Given the description of an element on the screen output the (x, y) to click on. 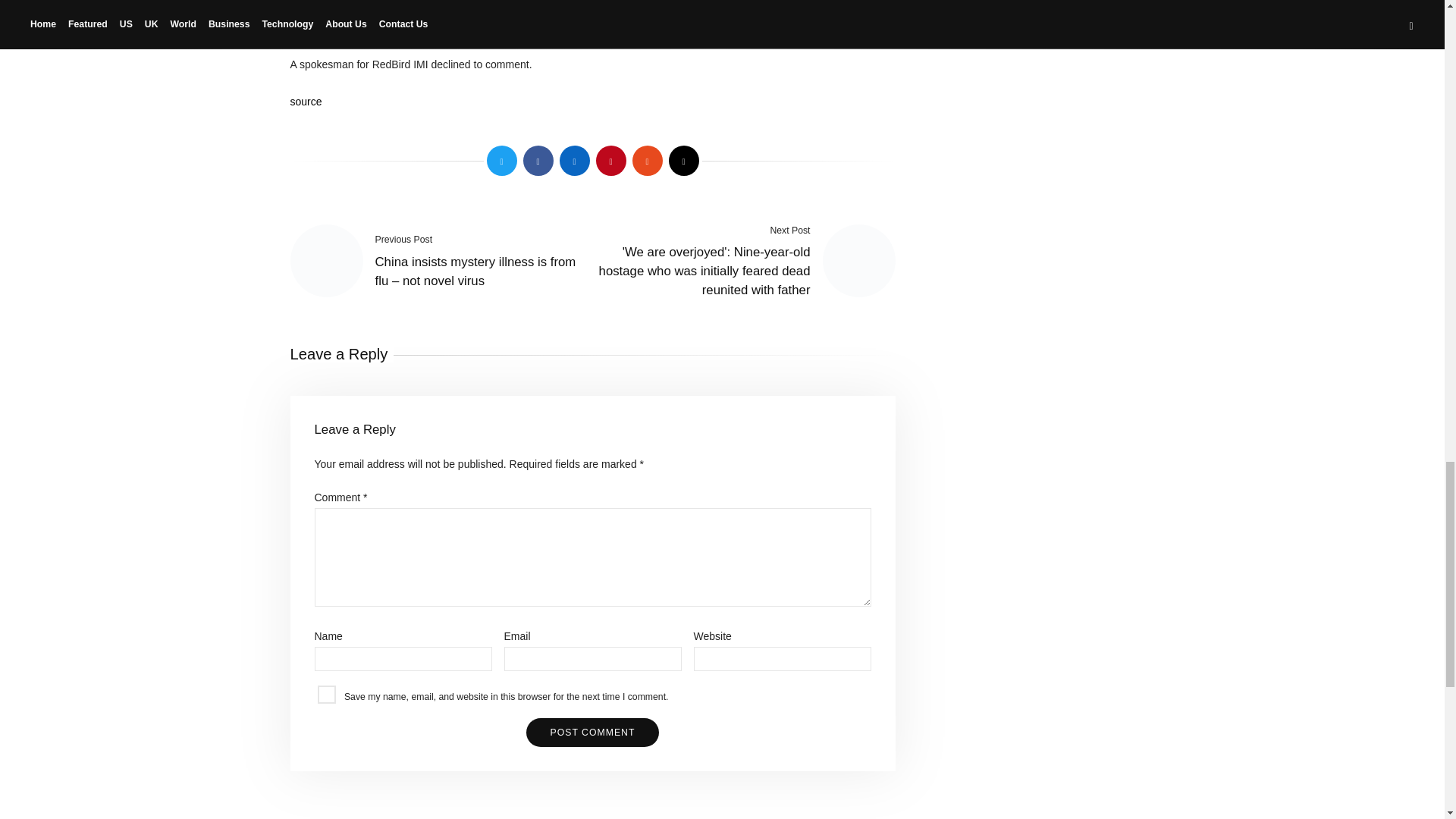
Share on LinkedIn (574, 160)
Pin this! (610, 160)
yes (325, 694)
source (305, 101)
Share on Facebook (537, 160)
Post Comment (592, 732)
Post Comment (592, 732)
Share on Email (683, 160)
Share on Reddit (646, 160)
